Given the description of an element on the screen output the (x, y) to click on. 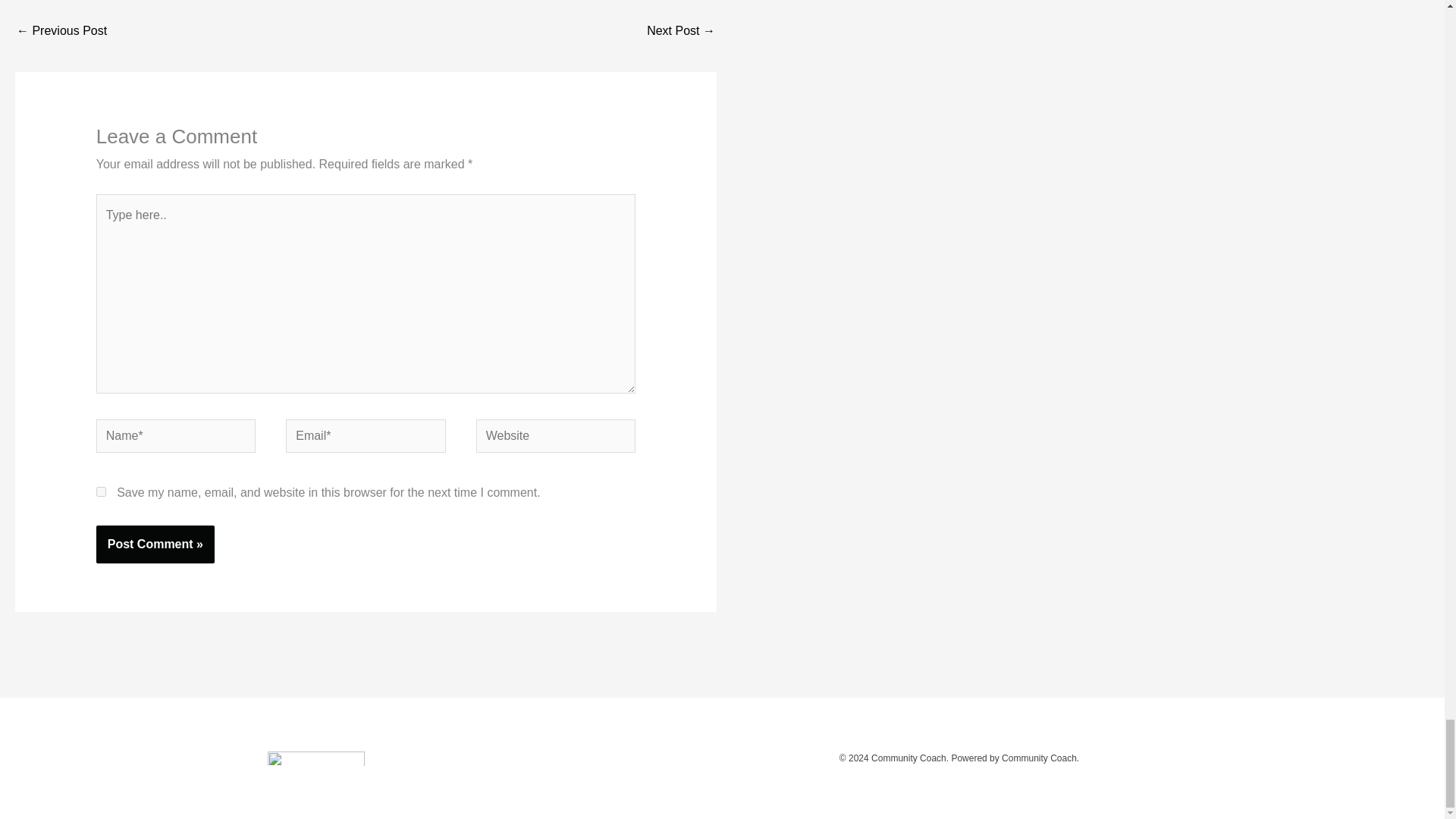
How Reddit's Community Approach Boosted Web3 Adoption (61, 31)
yes (101, 491)
